Given the description of an element on the screen output the (x, y) to click on. 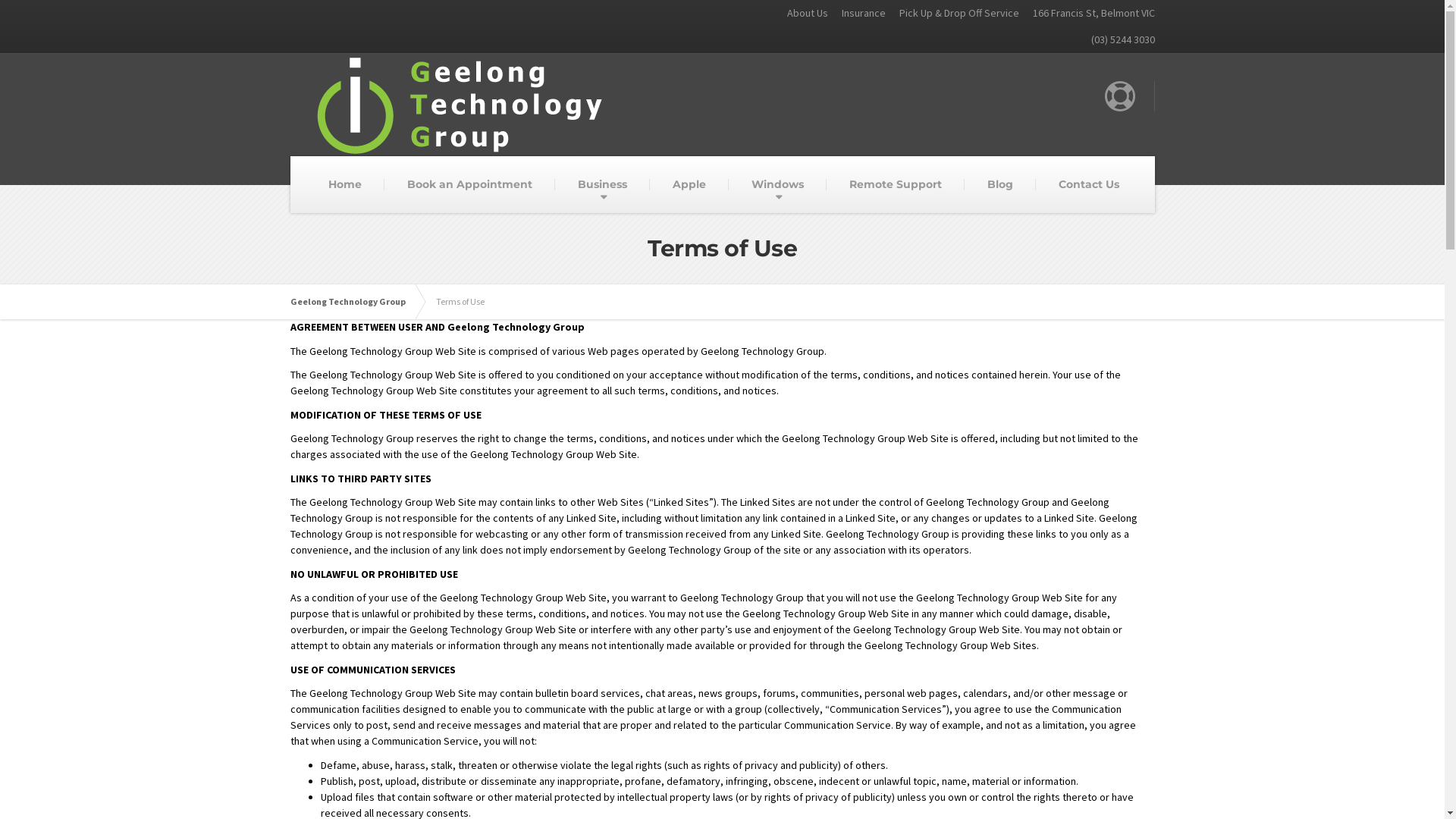
(03) 5244 3030 Element type: text (1116, 39)
Blog Element type: text (999, 184)
Remote Support Element type: text (895, 184)
Apple Element type: text (688, 184)
166 Francis St, Belmont VIC Element type: text (1087, 13)
Geelong Technology Group Element type: text (354, 301)
Windows Element type: text (777, 184)
Business Element type: text (602, 184)
About Us Element type: text (801, 13)
Pick Up & Drop Off Service Element type: text (952, 13)
Book an Appointment Element type: text (469, 184)
Home Element type: text (344, 184)
Insurance Element type: text (856, 13)
Contact Us Element type: text (1088, 184)
